Given the description of an element on the screen output the (x, y) to click on. 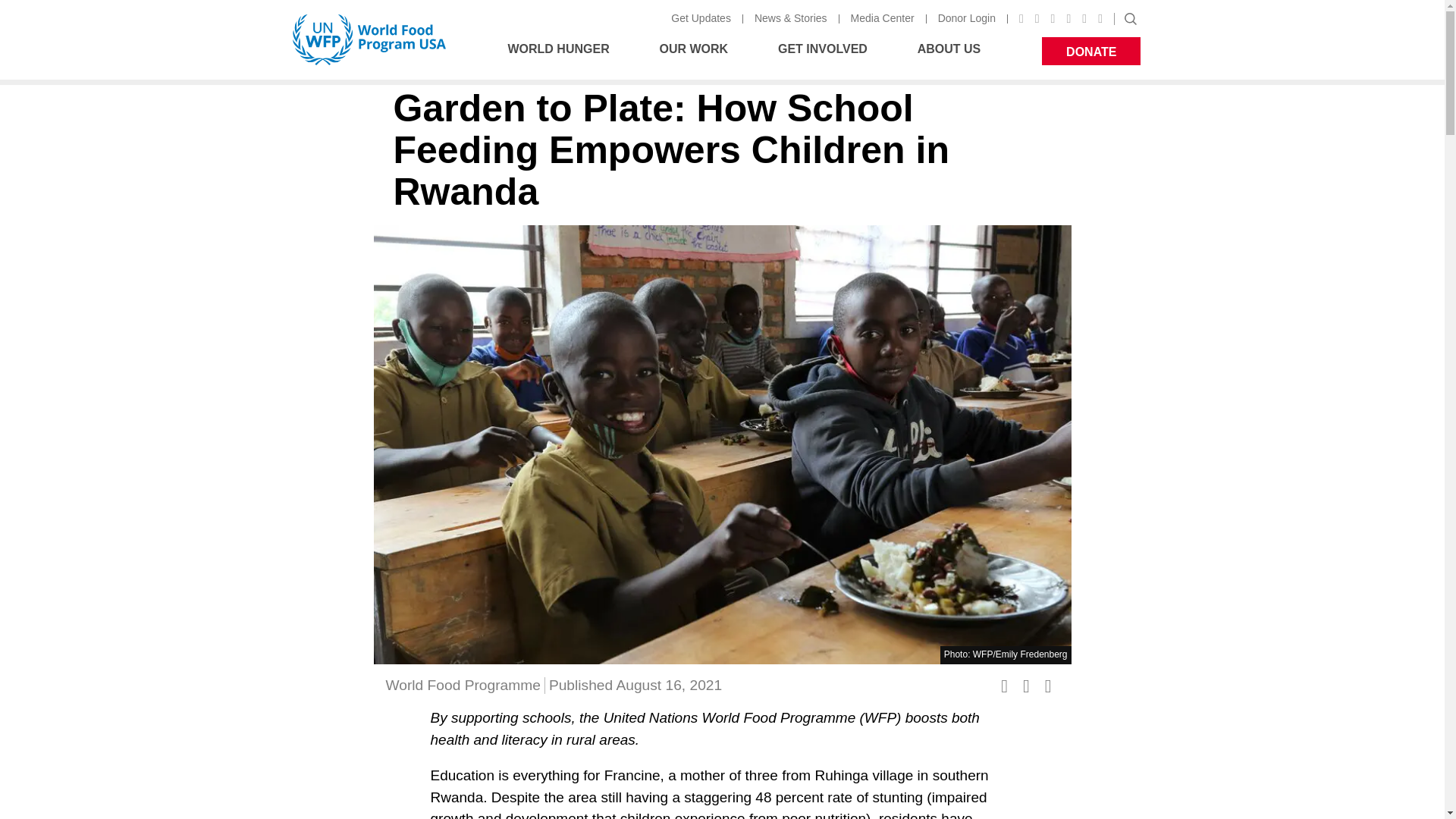
Go to WFPUSA homepage (369, 39)
World Hunger (561, 50)
